Given the description of an element on the screen output the (x, y) to click on. 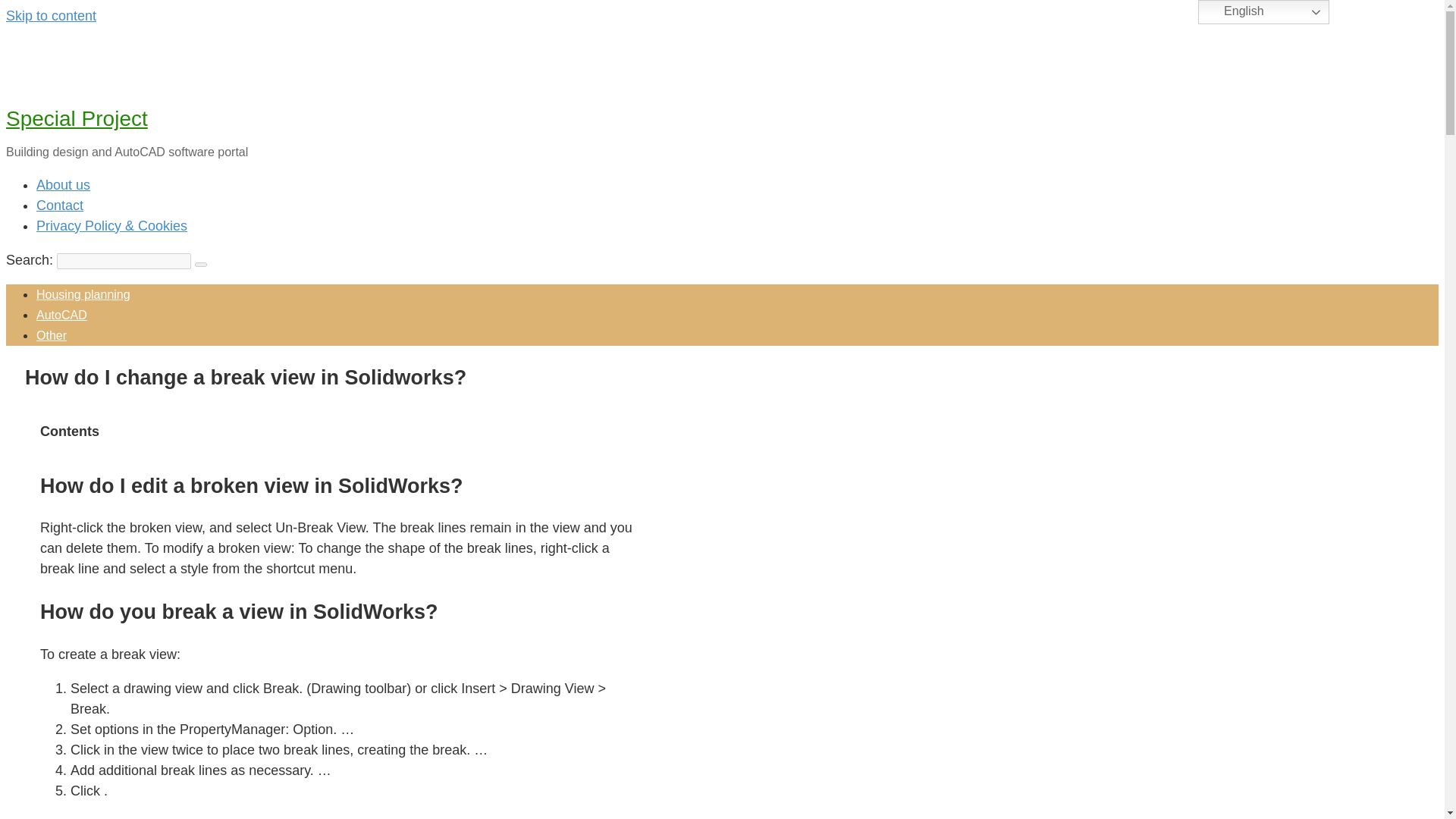
Contact (59, 205)
About us (63, 184)
Other (51, 335)
Housing planning (83, 294)
Skip to content (50, 15)
AutoCAD (61, 314)
Special Project (76, 118)
